Given the description of an element on the screen output the (x, y) to click on. 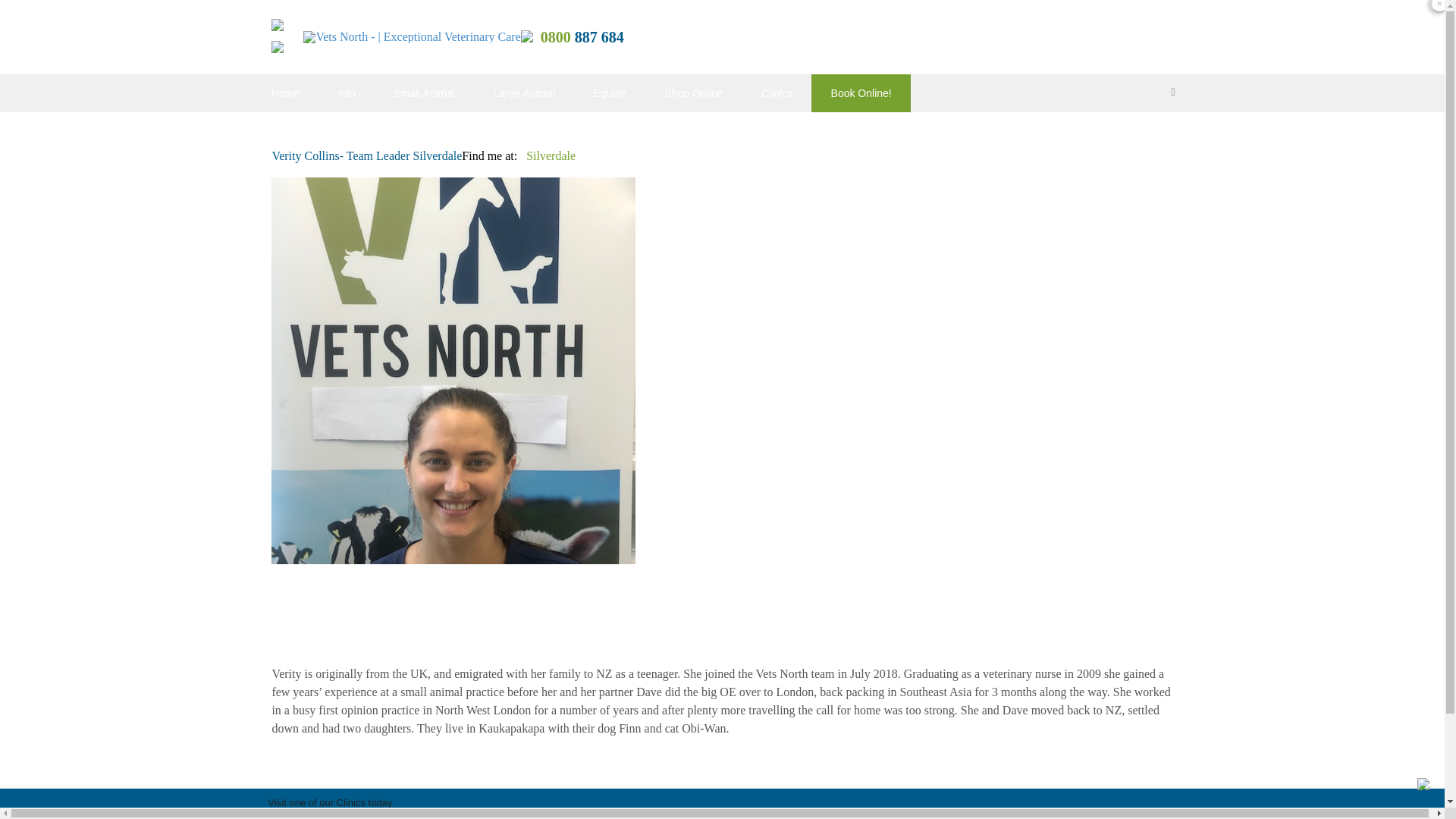
View your shopping cart (1171, 93)
Clinics (777, 93)
Home (284, 93)
Small Animal (424, 93)
Book Online! (860, 93)
Shop Online (693, 93)
Helensville (297, 815)
Equine (609, 93)
Large Animal (523, 93)
Info (346, 93)
